Given the description of an element on the screen output the (x, y) to click on. 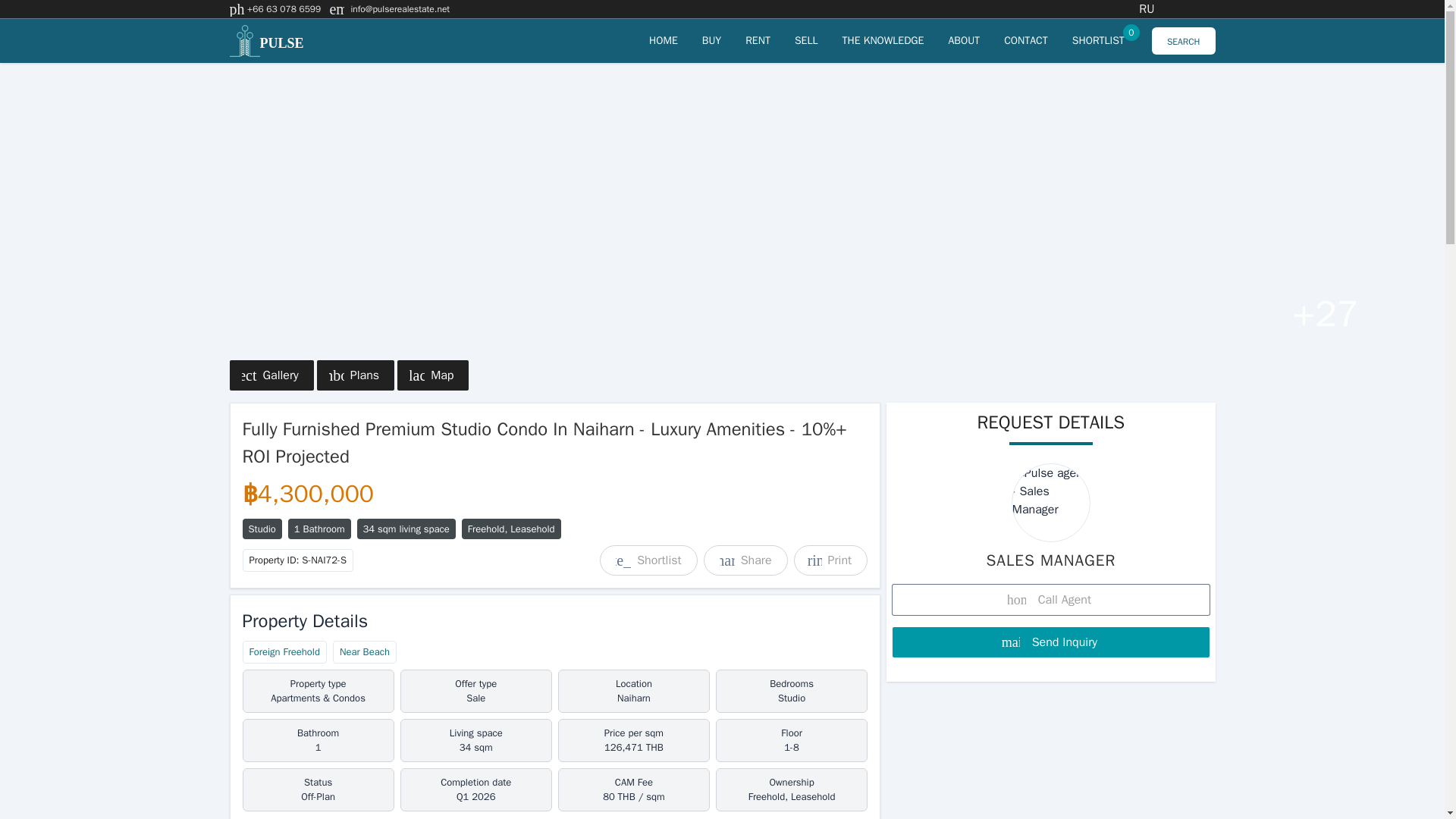
Property Shortlist (1097, 40)
SELL (1097, 40)
Home - Pulse Real Estate (806, 40)
CONTACT (663, 40)
ABOUT (1026, 40)
THE KNOWLEDGE (963, 40)
Property for rent in Phuket (882, 40)
Email (757, 40)
RENT (399, 8)
